Given the description of an element on the screen output the (x, y) to click on. 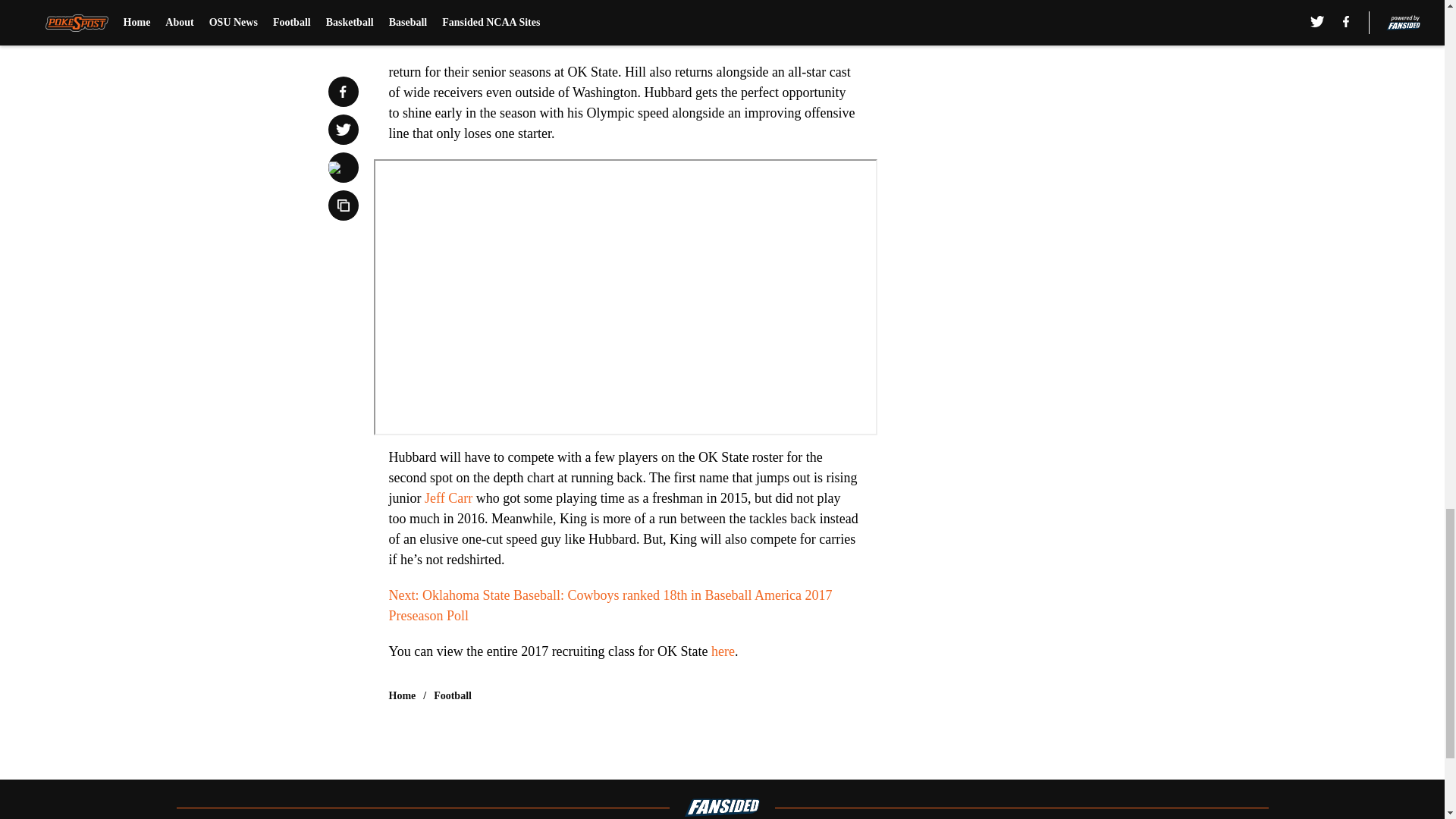
here (723, 651)
Football (452, 695)
James Washington (438, 36)
Jeff Carr (448, 498)
Home (401, 695)
